Given the description of an element on the screen output the (x, y) to click on. 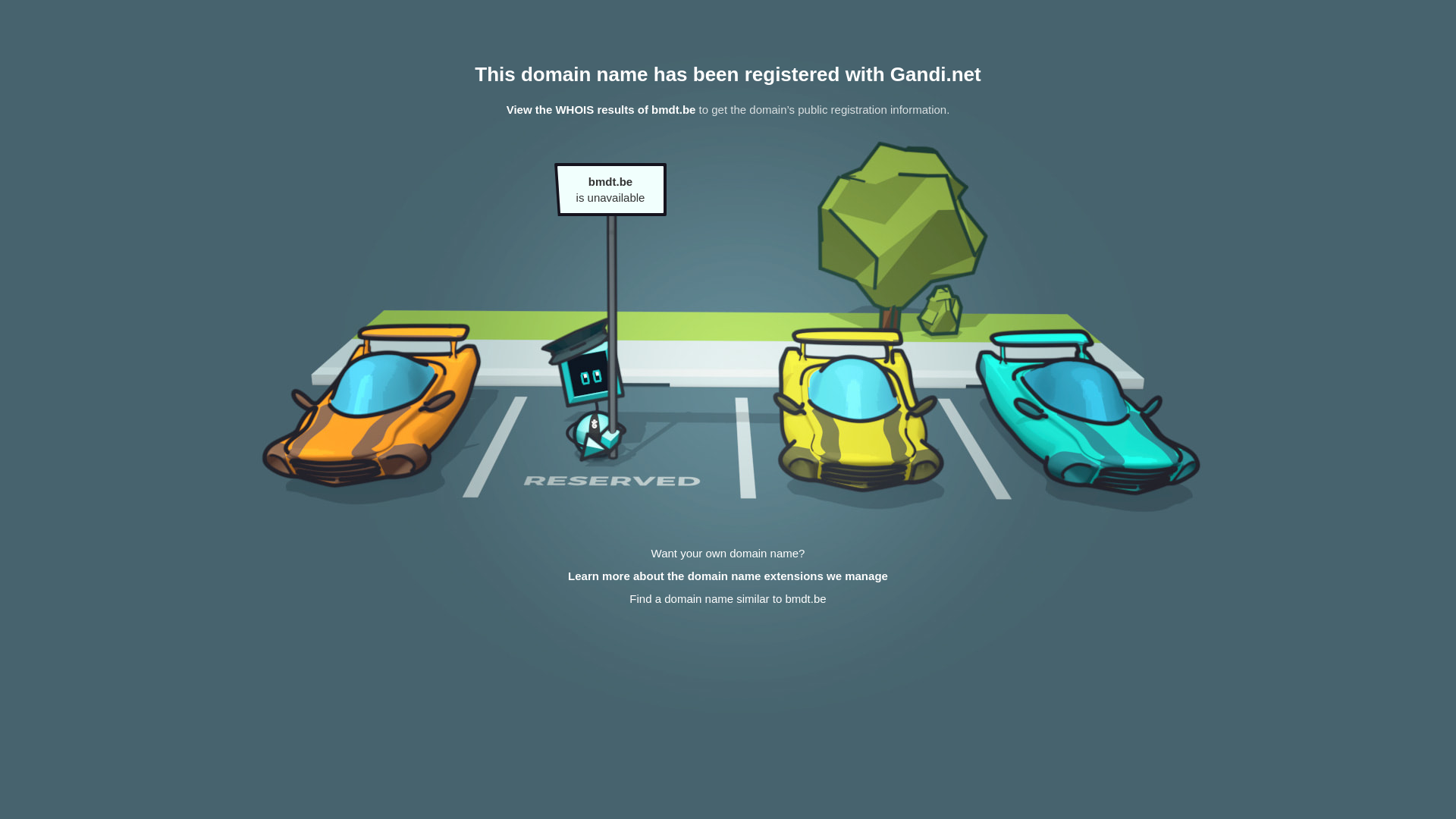
View the WHOIS results of bmdt.be Element type: text (601, 109)
Learn more about the domain name extensions we manage Element type: text (727, 575)
Find a domain name similar to bmdt.be Element type: text (727, 598)
